Given the description of an element on the screen output the (x, y) to click on. 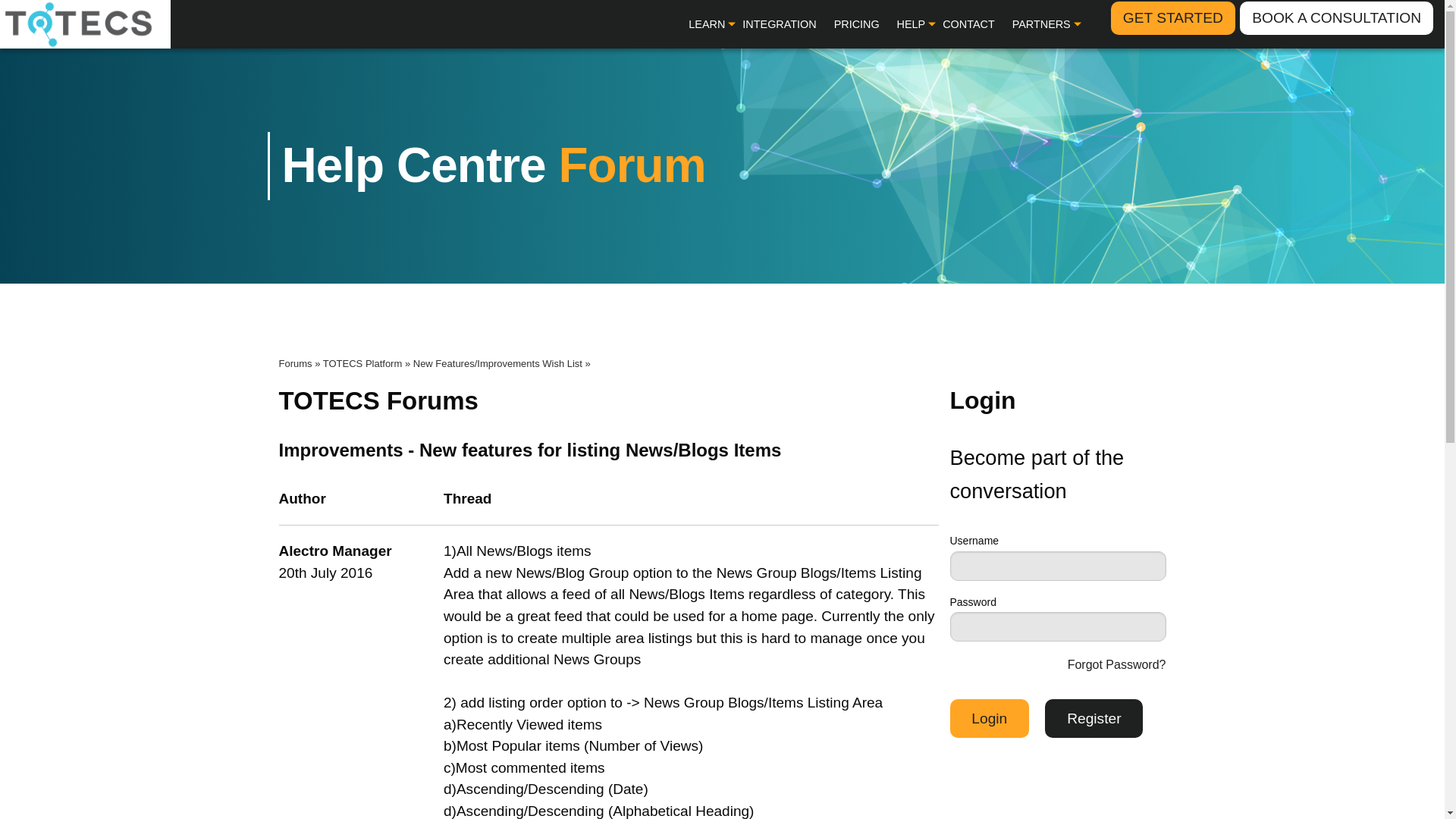
LEARN (706, 23)
